Given the description of an element on the screen output the (x, y) to click on. 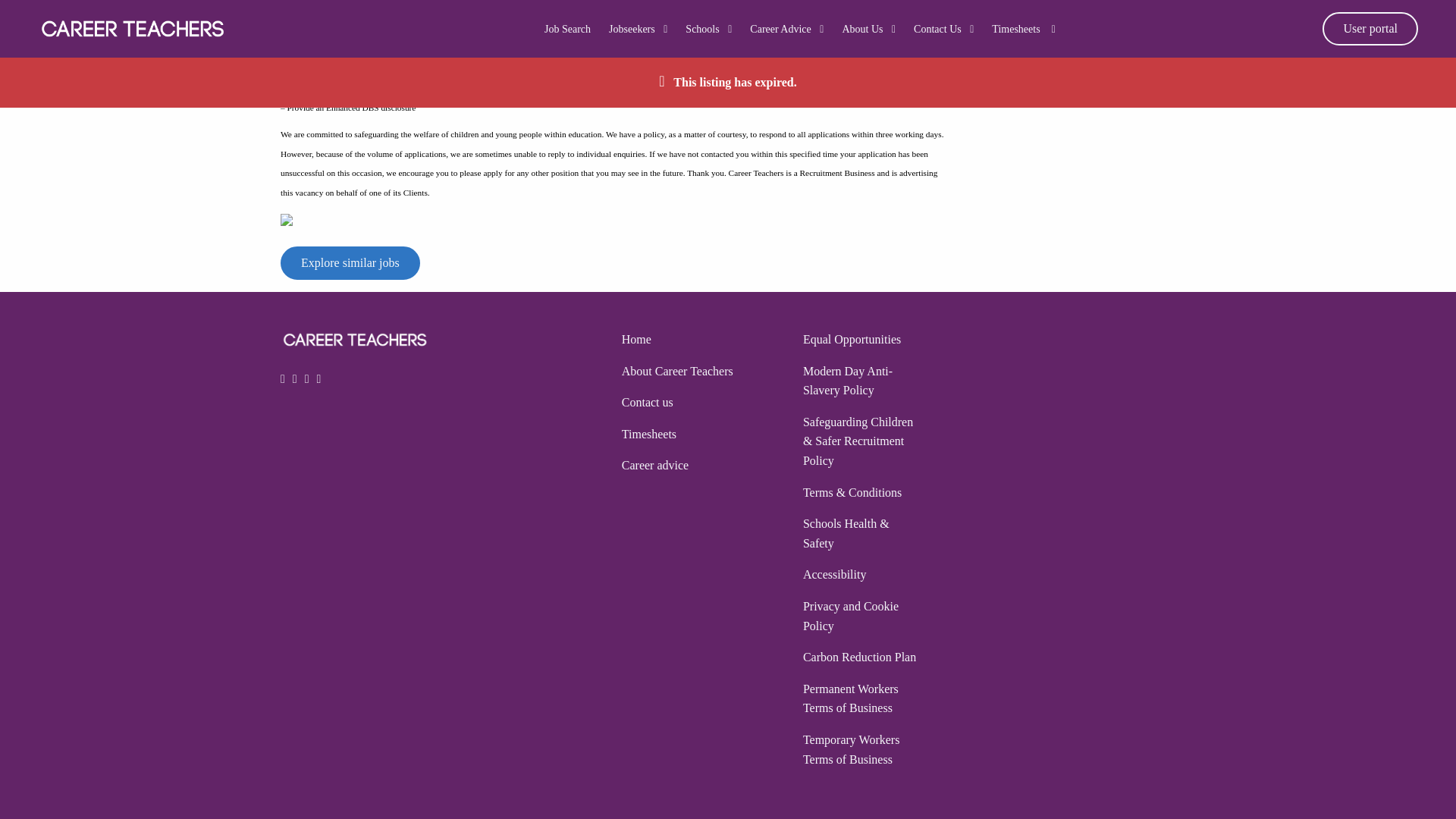
Explore similar jobs (350, 263)
